Given the description of an element on the screen output the (x, y) to click on. 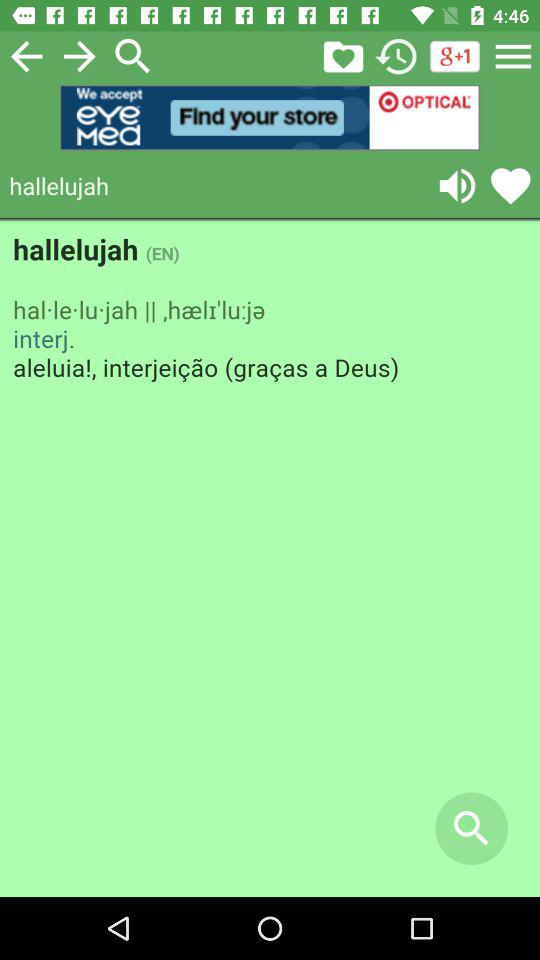
previous page (26, 56)
